Given the description of an element on the screen output the (x, y) to click on. 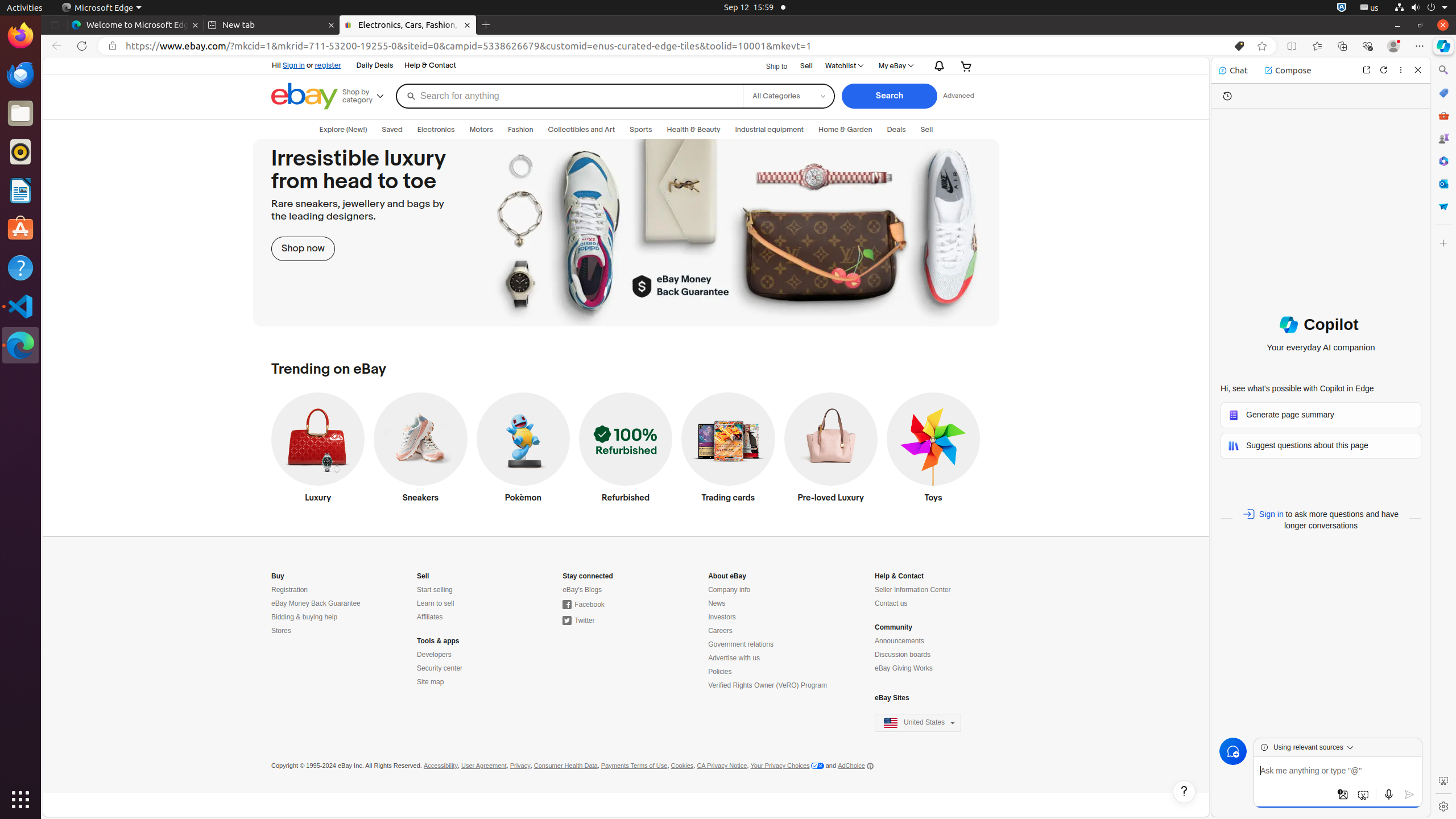
Help Element type: push-button (20, 267)
View site information Element type: push-button (112, 46)
Investors Element type: link (721, 617)
Ship to Element type: push-button (769, 66)
More options Element type: push-button (1400, 69)
